Given the description of an element on the screen output the (x, y) to click on. 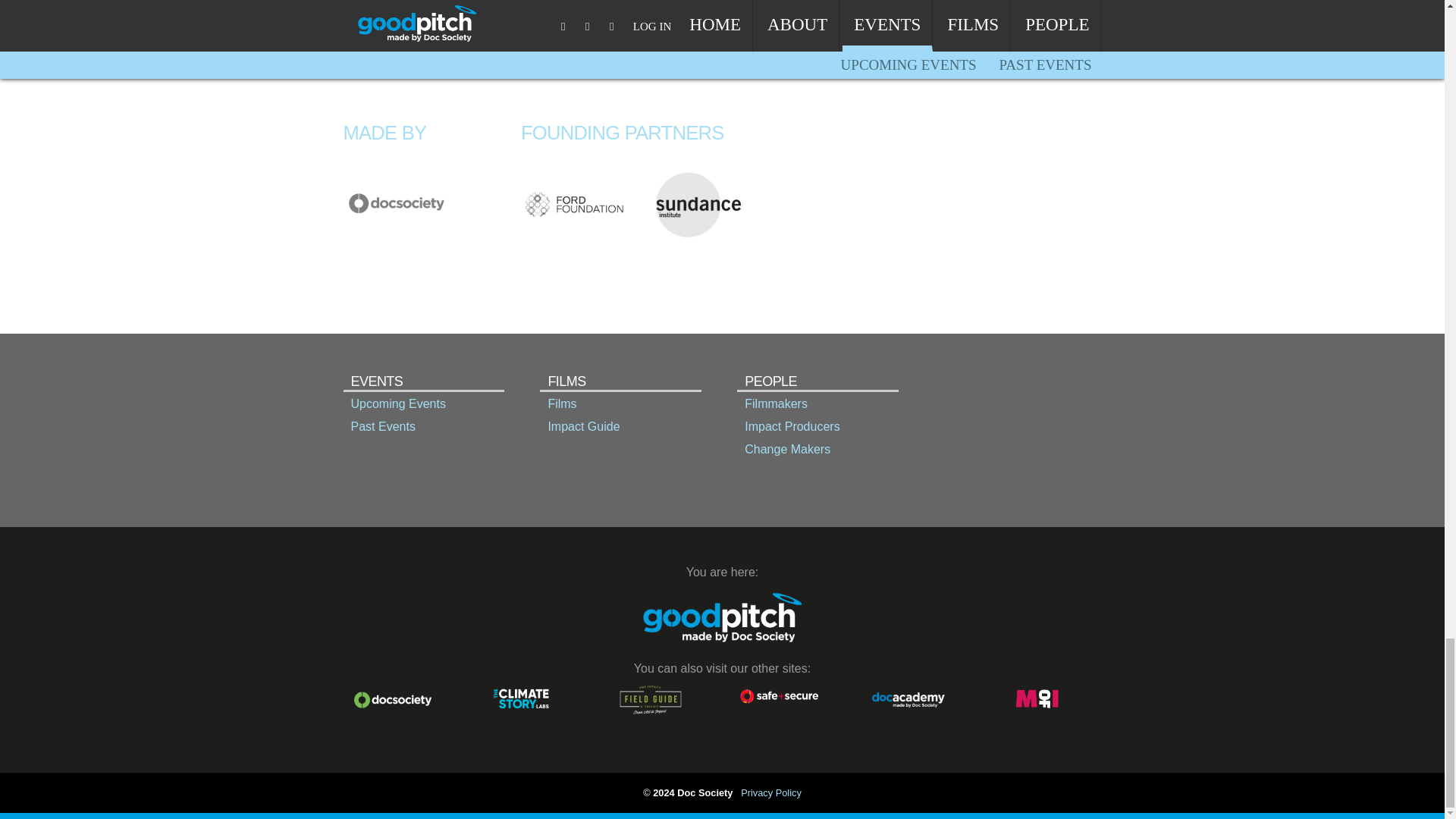
Upcoming Events (422, 403)
